Given the description of an element on the screen output the (x, y) to click on. 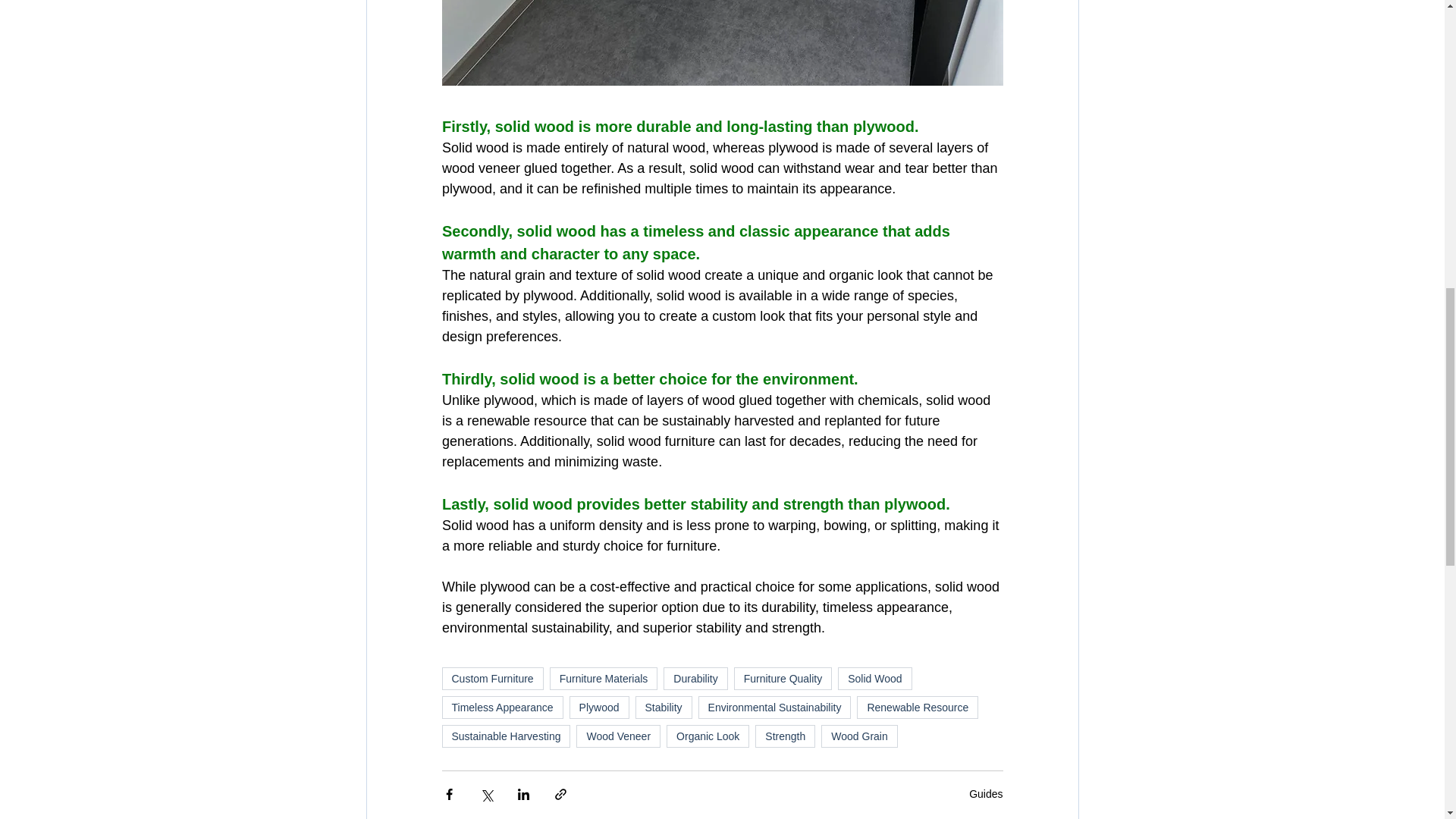
Timeless Appearance (501, 707)
Furniture Materials (604, 678)
Durability (694, 678)
Custom Furniture (492, 678)
Stability (663, 707)
Plywood (598, 707)
Solid Wood (874, 678)
Furniture Quality (782, 678)
